Given the description of an element on the screen output the (x, y) to click on. 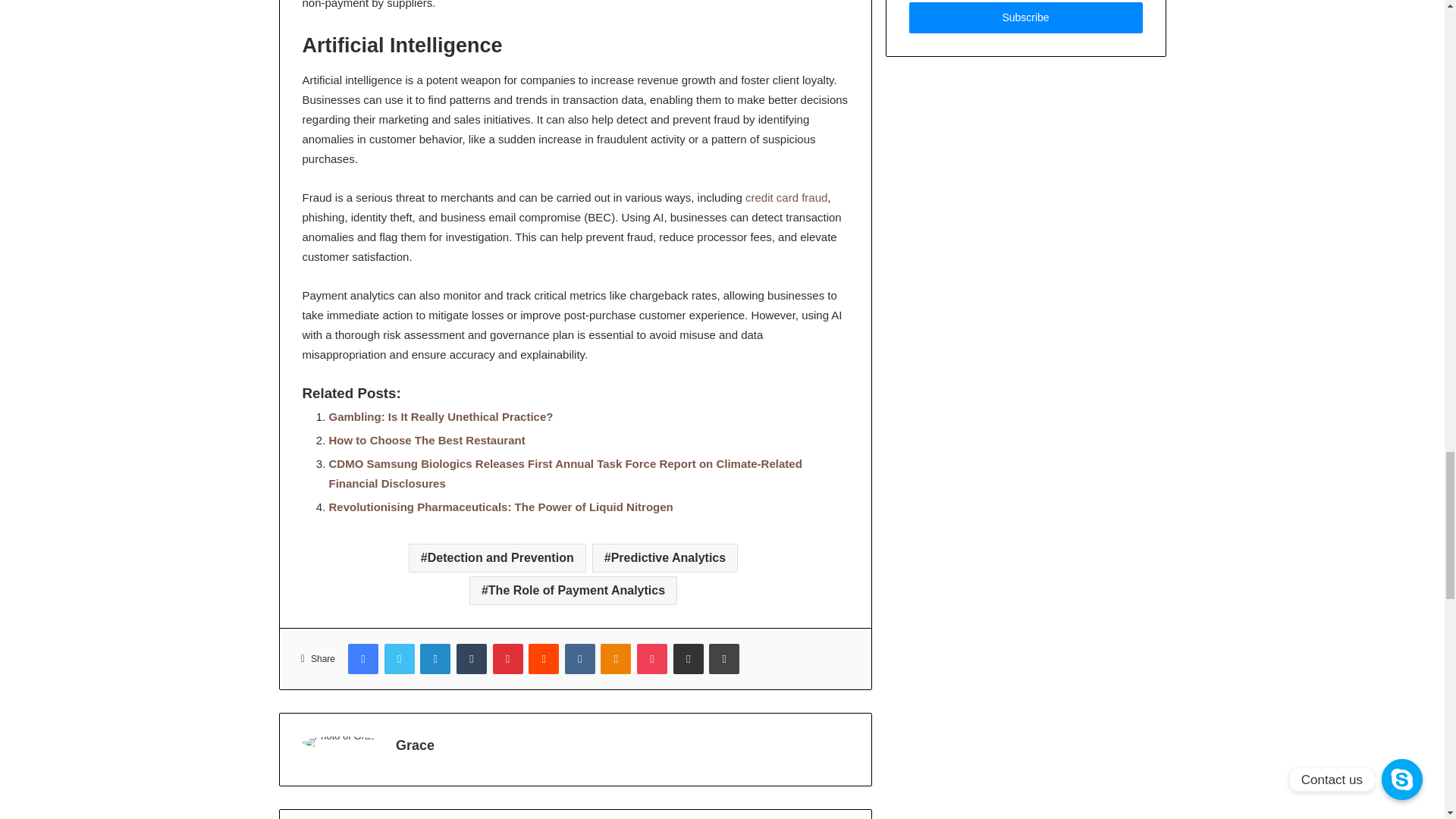
Gambling: Is It Really Unethical Practice? (441, 416)
Subscribe (1025, 17)
How to Choose The Best Restaurant (427, 440)
credit card fraud (786, 196)
